Given the description of an element on the screen output the (x, y) to click on. 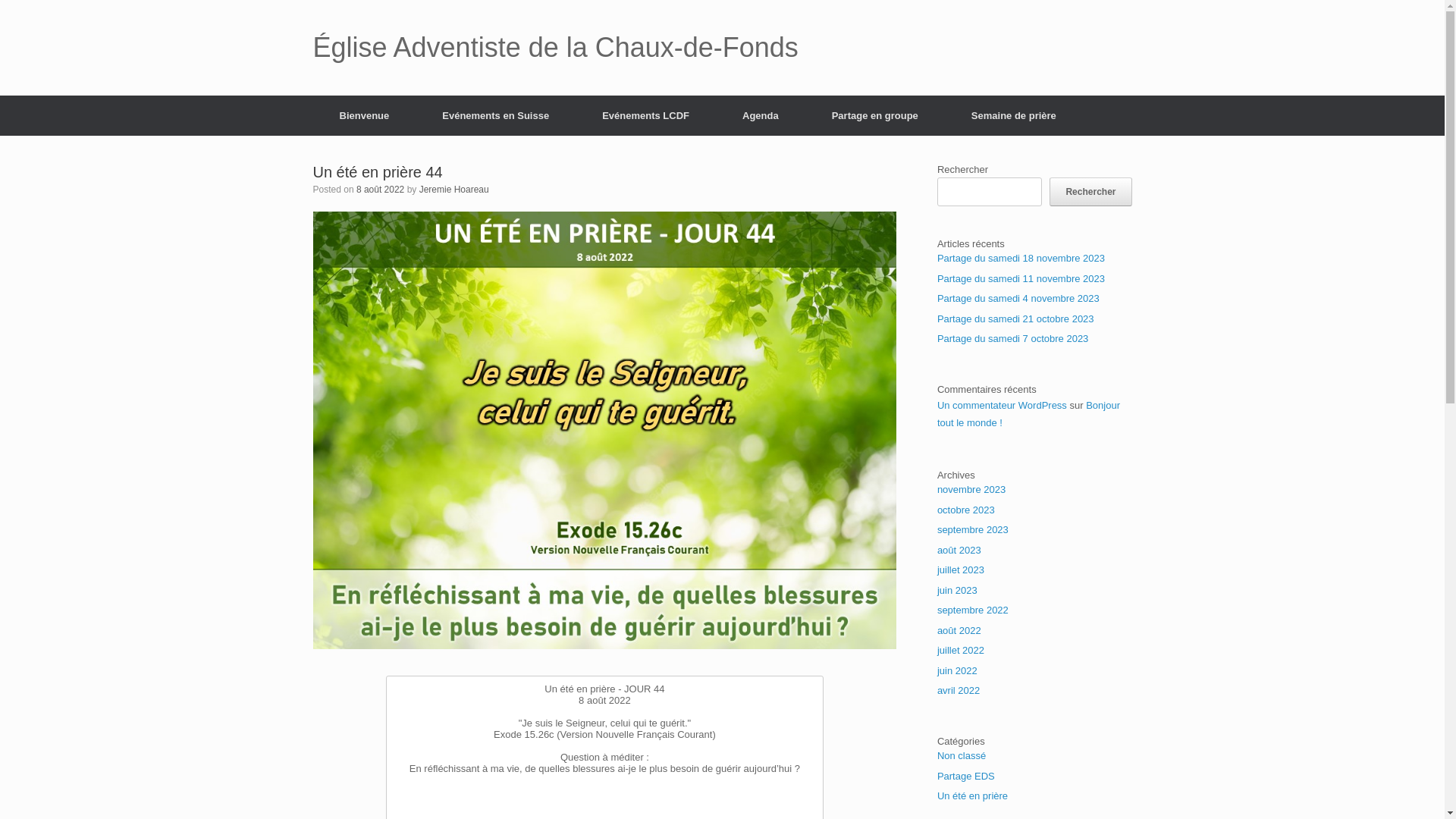
Jeremie Hoareau Element type: text (454, 189)
avril 2022 Element type: text (958, 690)
Partage en groupe Element type: text (874, 115)
Partage du samedi 11 novembre 2023 Element type: text (1020, 278)
juillet 2023 Element type: text (960, 569)
Partage EDS Element type: text (965, 775)
juillet 2022 Element type: text (960, 649)
Agenda Element type: text (760, 115)
juin 2023 Element type: text (957, 590)
Partage du samedi 7 octobre 2023 Element type: text (1012, 338)
novembre 2023 Element type: text (971, 489)
Partage du samedi 21 octobre 2023 Element type: text (1015, 317)
Un commentateur WordPress Element type: text (1001, 405)
Partage du samedi 4 novembre 2023 Element type: text (1018, 298)
septembre 2023 Element type: text (972, 529)
Bienvenue Element type: text (363, 115)
Partage du samedi 18 novembre 2023 Element type: text (1020, 257)
Bonjour tout le monde ! Element type: text (1028, 413)
octobre 2023 Element type: text (965, 509)
juin 2022 Element type: text (957, 670)
Rechercher Element type: text (1090, 191)
septembre 2022 Element type: text (972, 609)
